Given the description of an element on the screen output the (x, y) to click on. 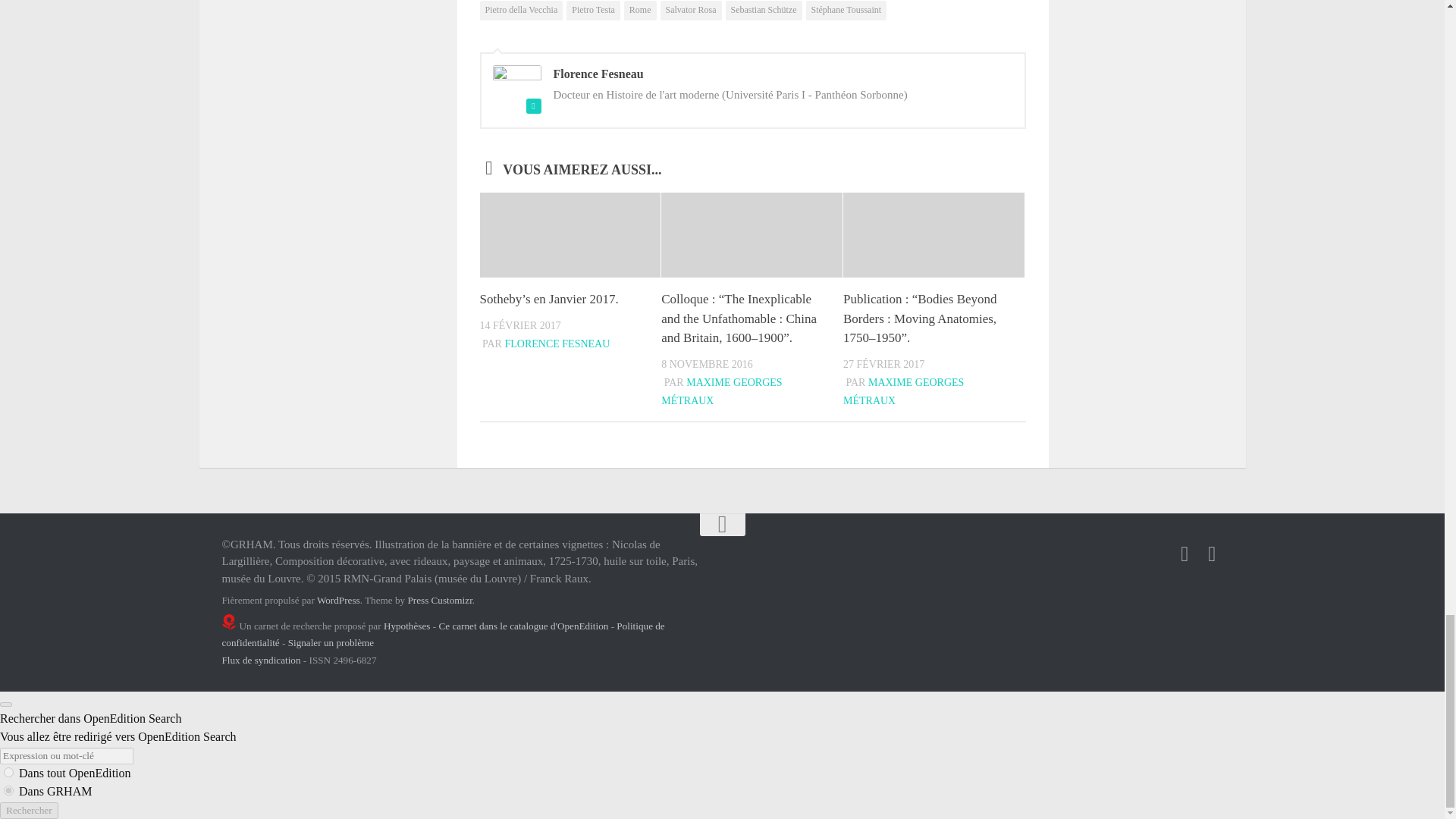
GRHAM (8, 790)
